Given the description of an element on the screen output the (x, y) to click on. 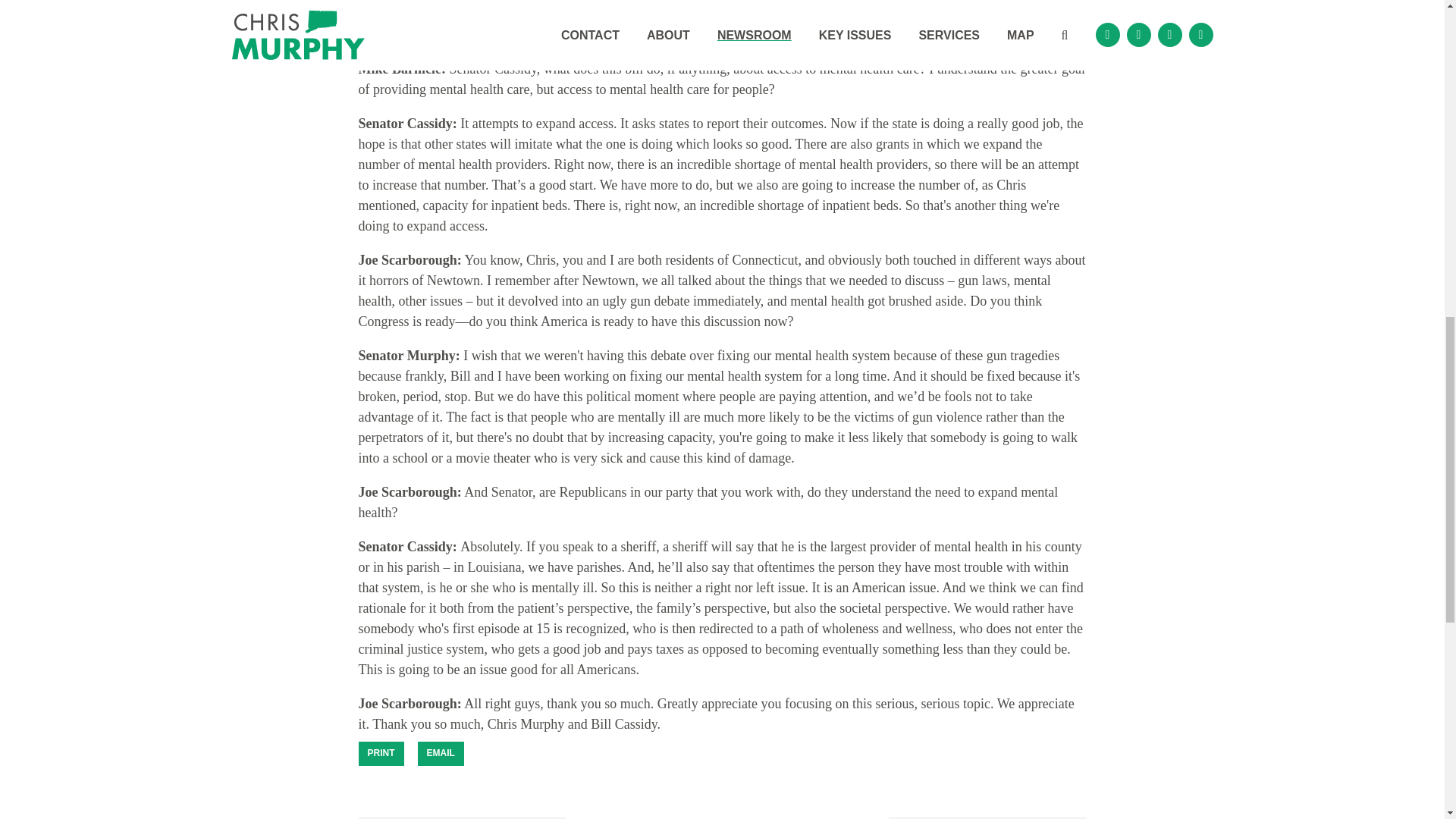
EMAIL (439, 753)
PRINT (380, 753)
